Given the description of an element on the screen output the (x, y) to click on. 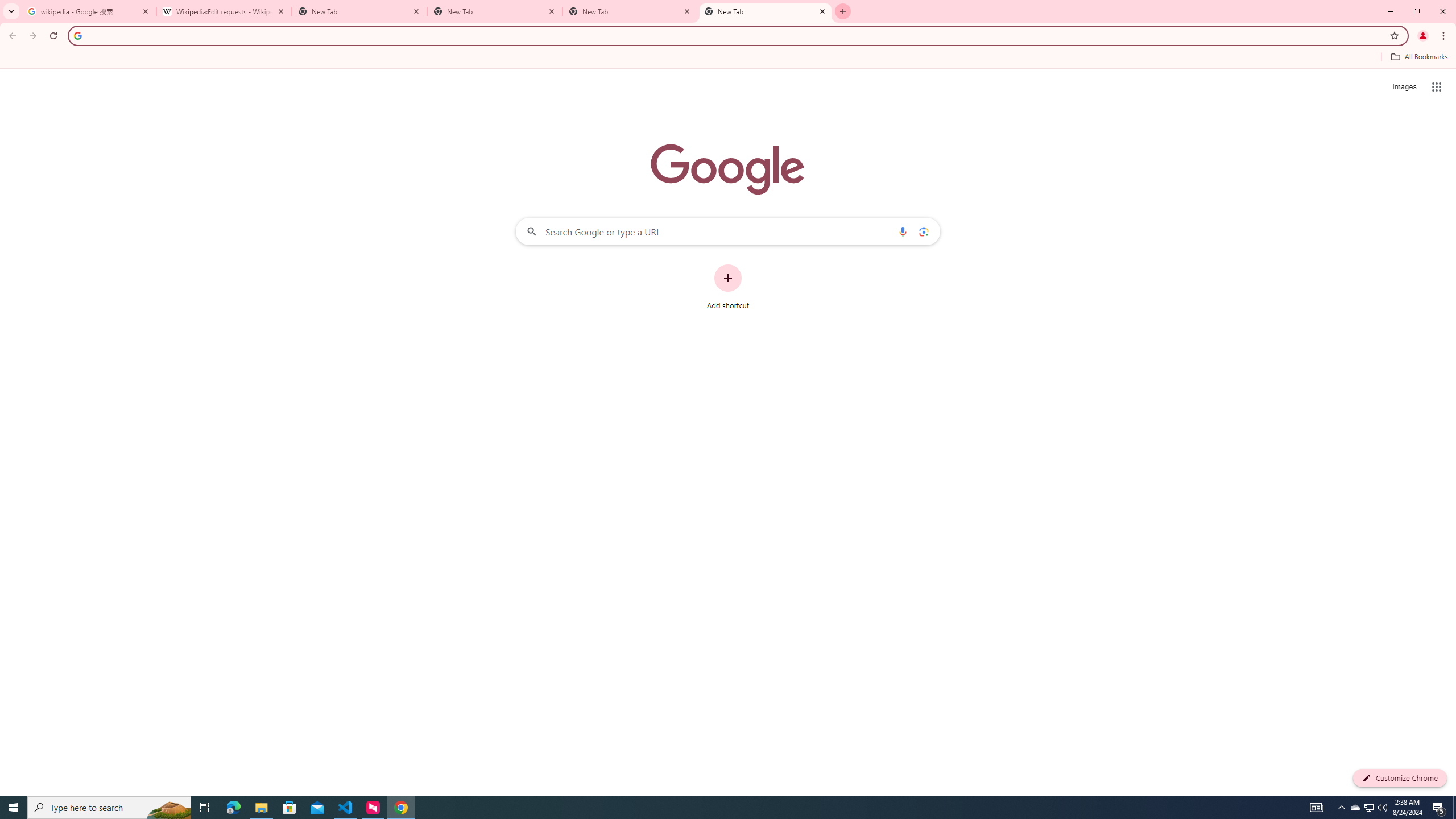
New Tab (842, 11)
Forward (32, 35)
All Bookmarks (1418, 56)
You (1422, 35)
Search icon (77, 35)
Reload (52, 35)
Add shortcut (727, 287)
Close (821, 11)
New Tab (630, 11)
Search for Images  (1403, 87)
Minimize (1390, 11)
Bookmark this tab (1393, 35)
Bookmarks (728, 58)
